Given the description of an element on the screen output the (x, y) to click on. 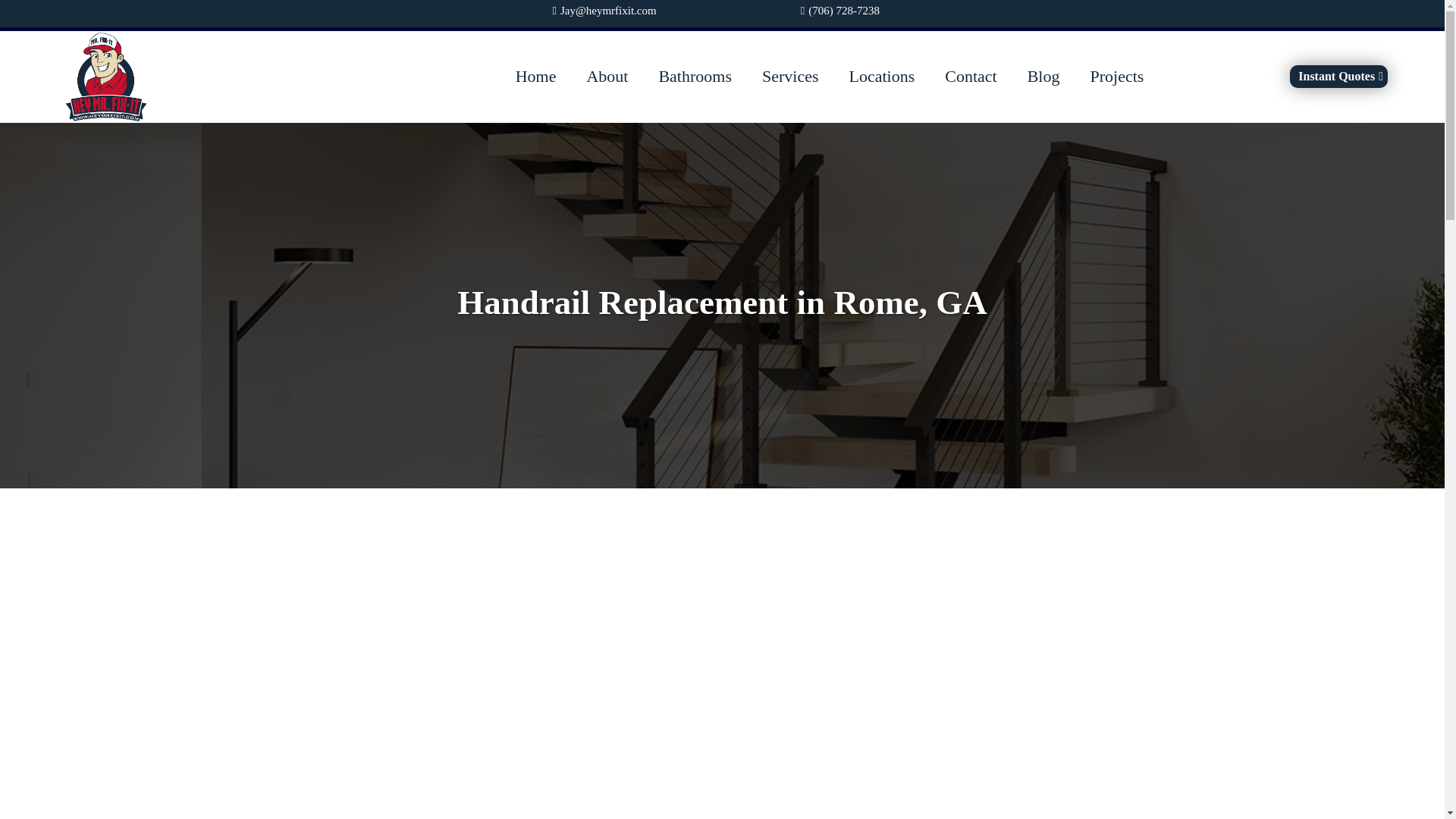
Bathrooms (694, 76)
Home (536, 76)
About (606, 76)
Services (790, 76)
Locations (881, 76)
